Given the description of an element on the screen output the (x, y) to click on. 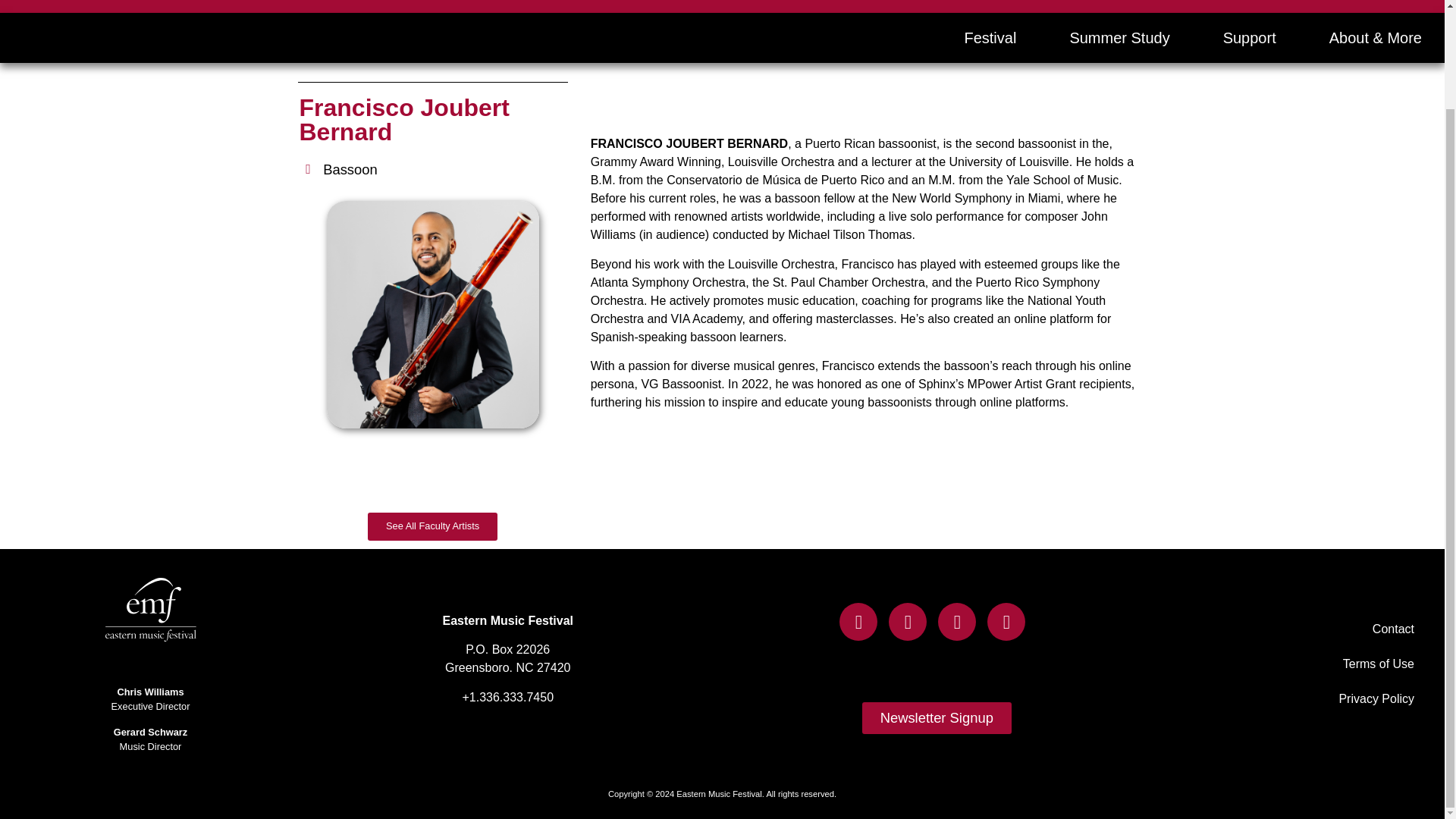
Summer Study (1119, 37)
Support (1249, 37)
Festival (989, 37)
